Given the description of an element on the screen output the (x, y) to click on. 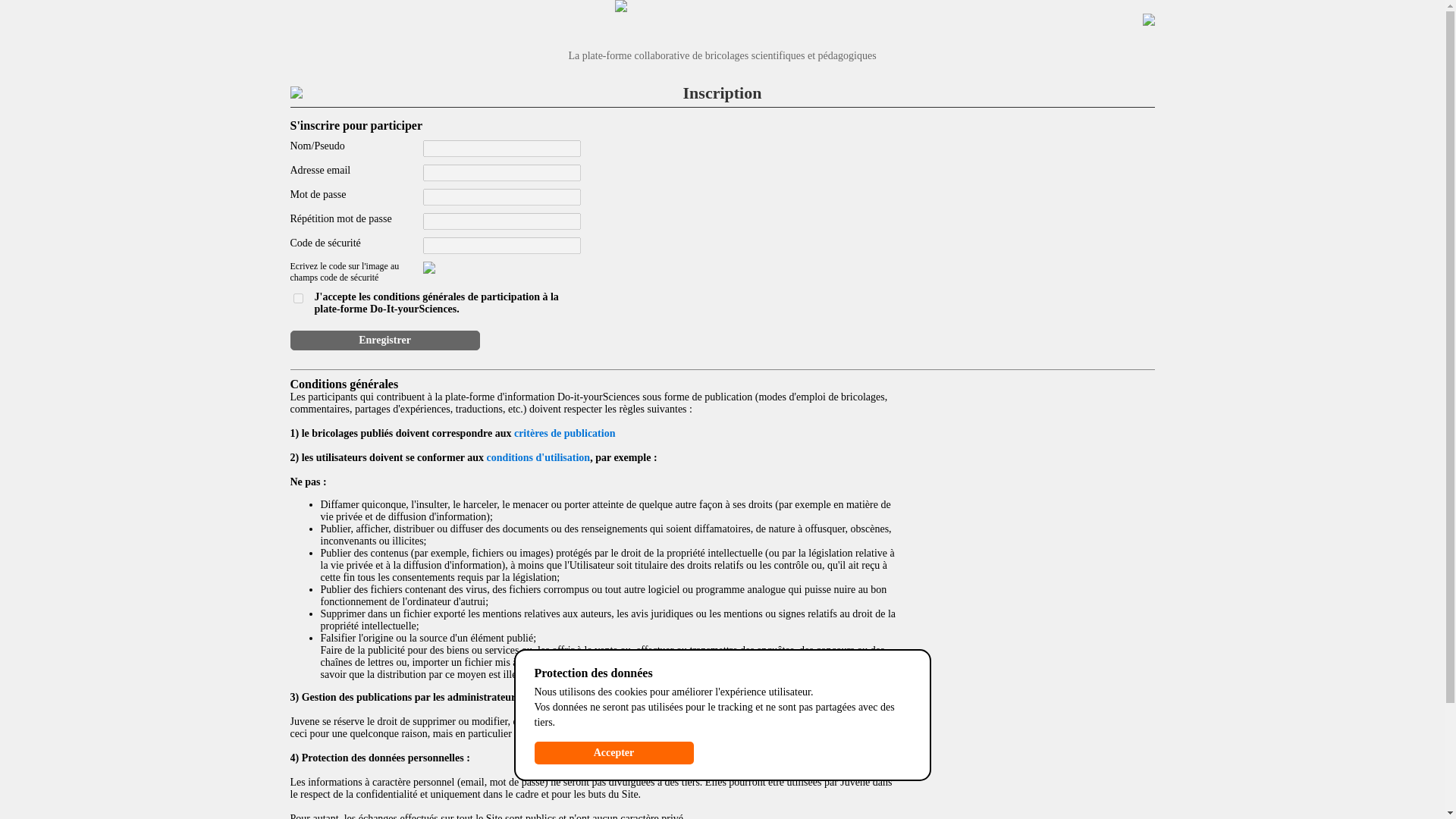
on (297, 298)
Enregistrer (384, 340)
conditions d'utilisation (538, 457)
Enregistrer (384, 340)
